Given the description of an element on the screen output the (x, y) to click on. 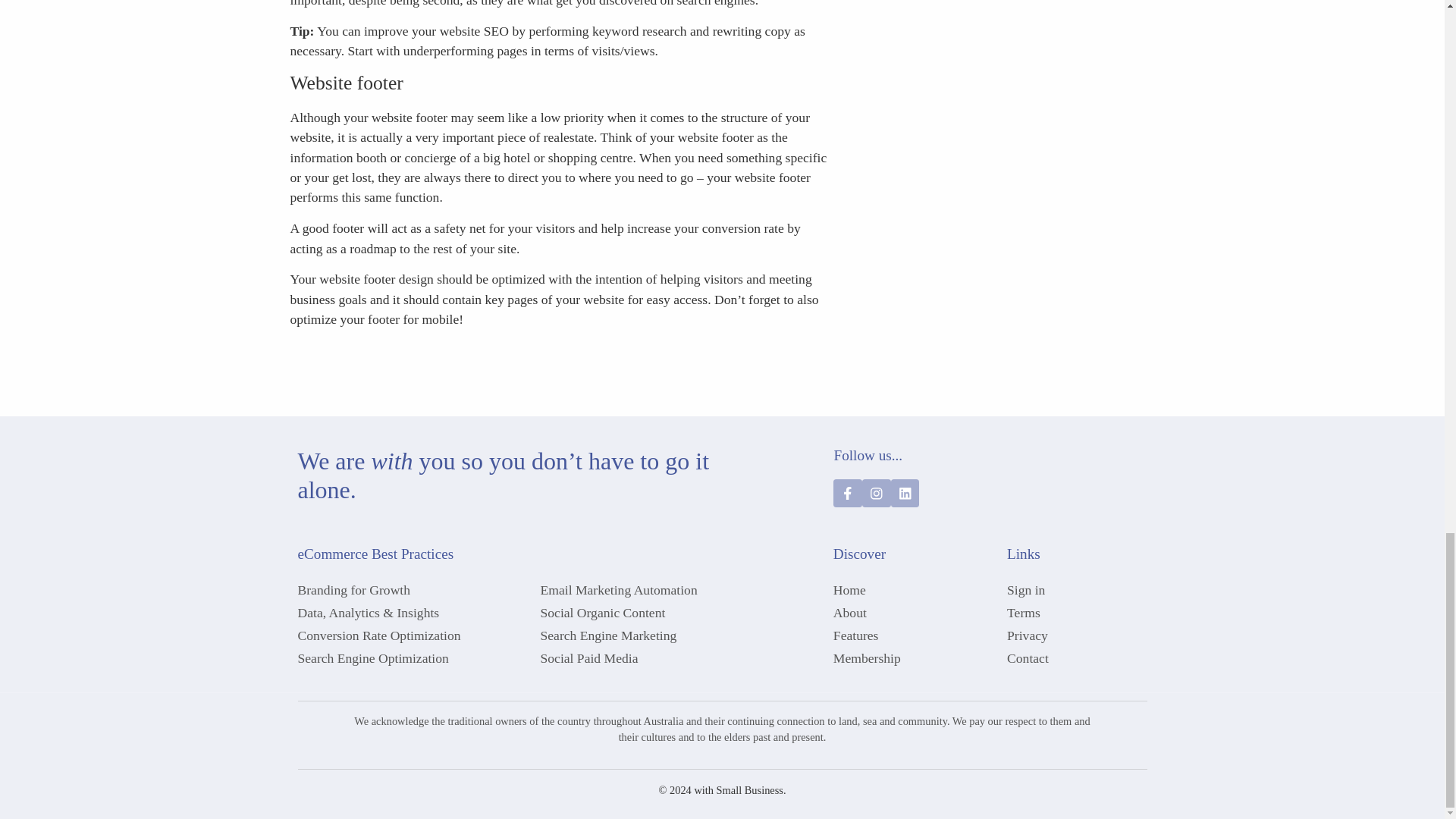
Search Engine Optimization (411, 658)
Branding for Growth (411, 589)
Conversion Rate Optimization (411, 635)
